Given the description of an element on the screen output the (x, y) to click on. 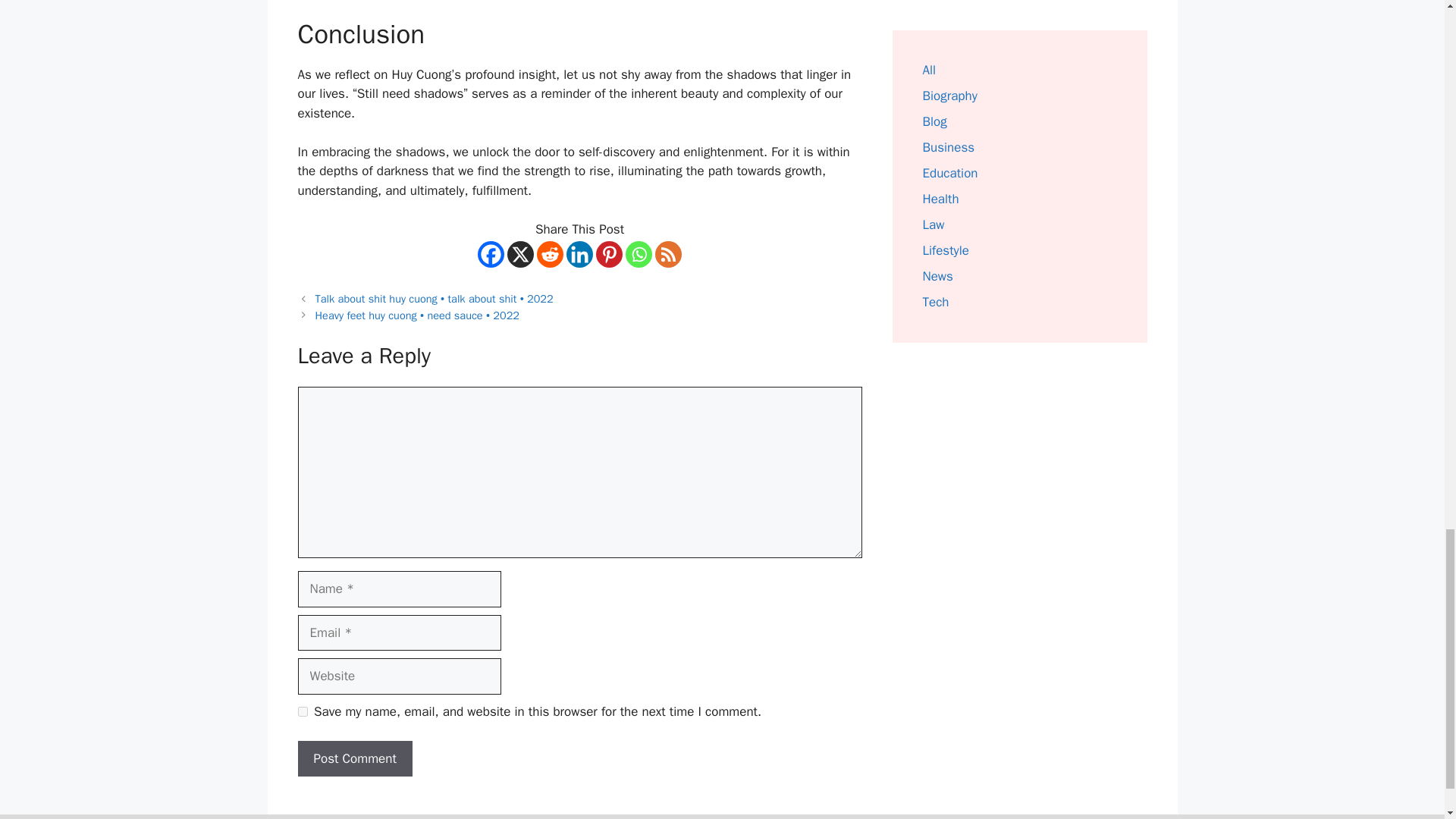
Post Comment (354, 759)
X (520, 253)
RSS Feed (668, 253)
Pinterest (609, 253)
Facebook (490, 253)
Post Comment (354, 759)
Reddit (550, 253)
Whatsapp (639, 253)
yes (302, 711)
Linkedin (579, 253)
